Given the description of an element on the screen output the (x, y) to click on. 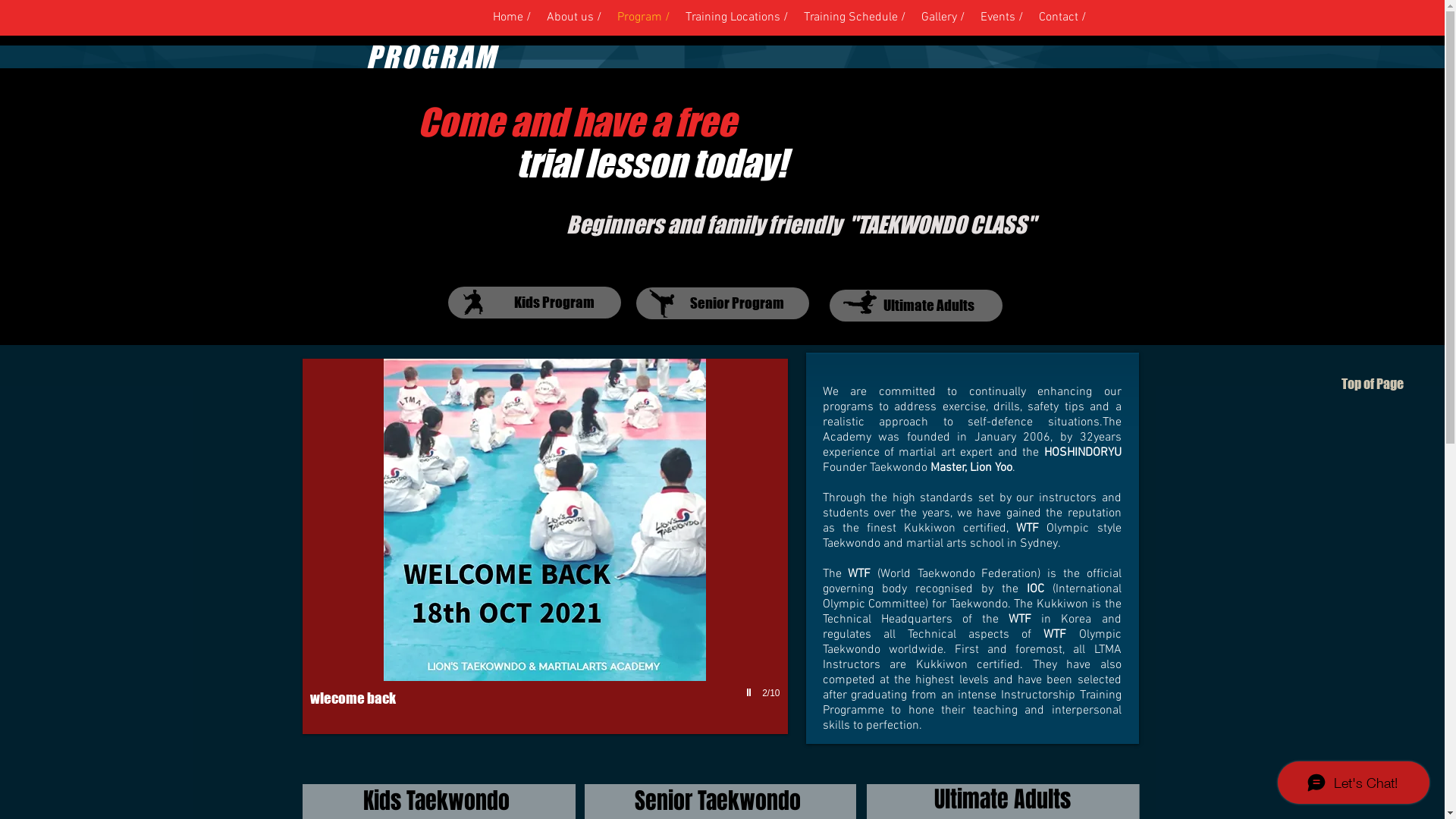
Training Schedule / Element type: text (854, 17)
Ultimate Adults Element type: text (915, 305)
Kids Program Element type: text (533, 302)
Training Locations / Element type: text (736, 17)
Senior Program Element type: text (721, 303)
Contact / Element type: text (1062, 17)
Top of Page Element type: text (1347, 383)
Program / Element type: text (643, 17)
Gallery / Element type: text (942, 17)
Home / Element type: text (512, 17)
Events / Element type: text (1001, 17)
